Given the description of an element on the screen output the (x, y) to click on. 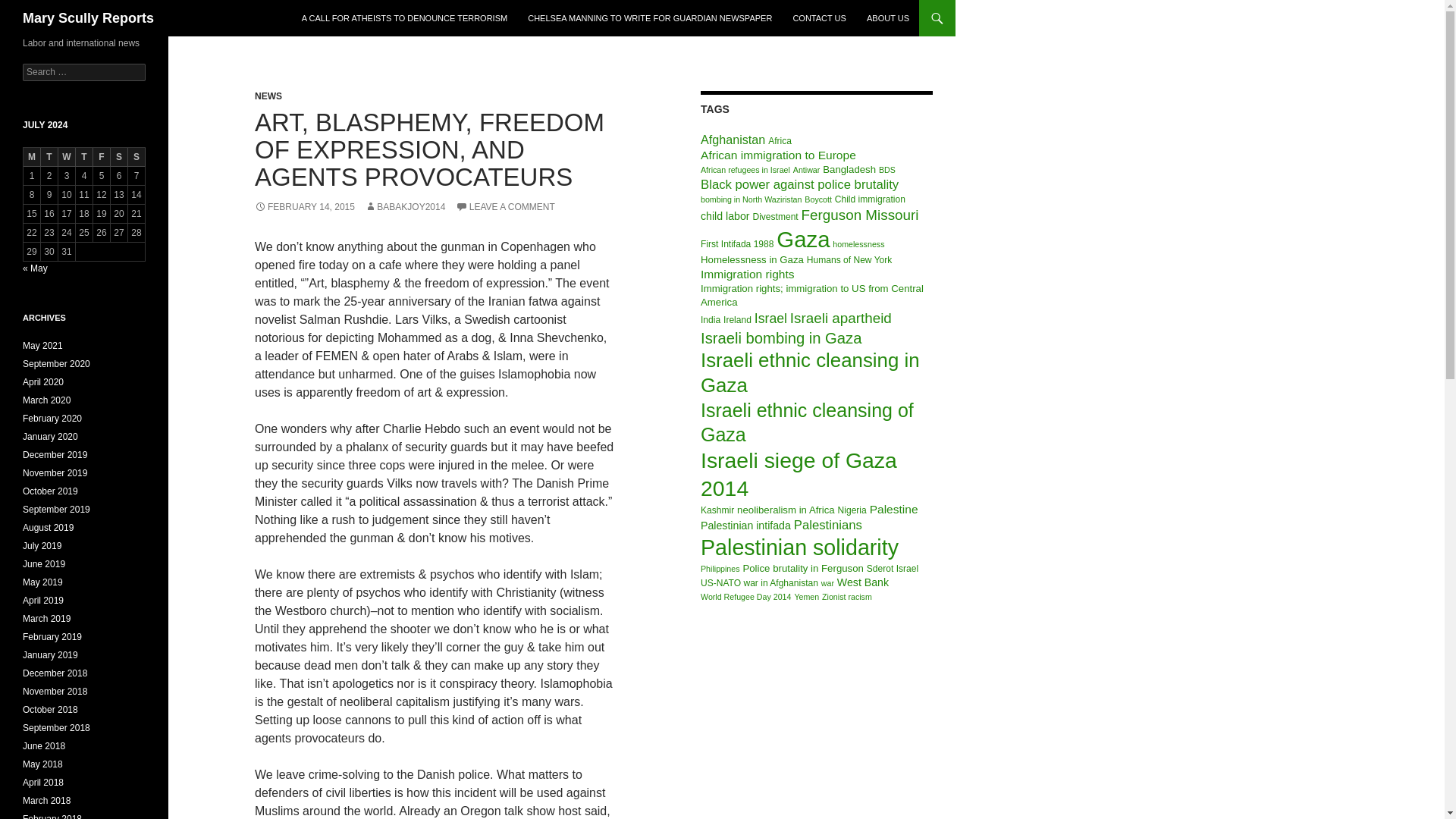
Immigration rights; immigration to US from Central America (811, 294)
Sunday (136, 157)
Gaza (802, 238)
ABOUT US (887, 18)
Boycott (818, 198)
African immigration to Europe (778, 154)
FEBRUARY 14, 2015 (304, 206)
Antiwar (807, 169)
BDS (887, 169)
Africa (780, 140)
African refugees in Israel (745, 169)
Immigration rights (747, 273)
Humans of New York (849, 259)
Monday (31, 157)
LEAVE A COMMENT (504, 206)
